Given the description of an element on the screen output the (x, y) to click on. 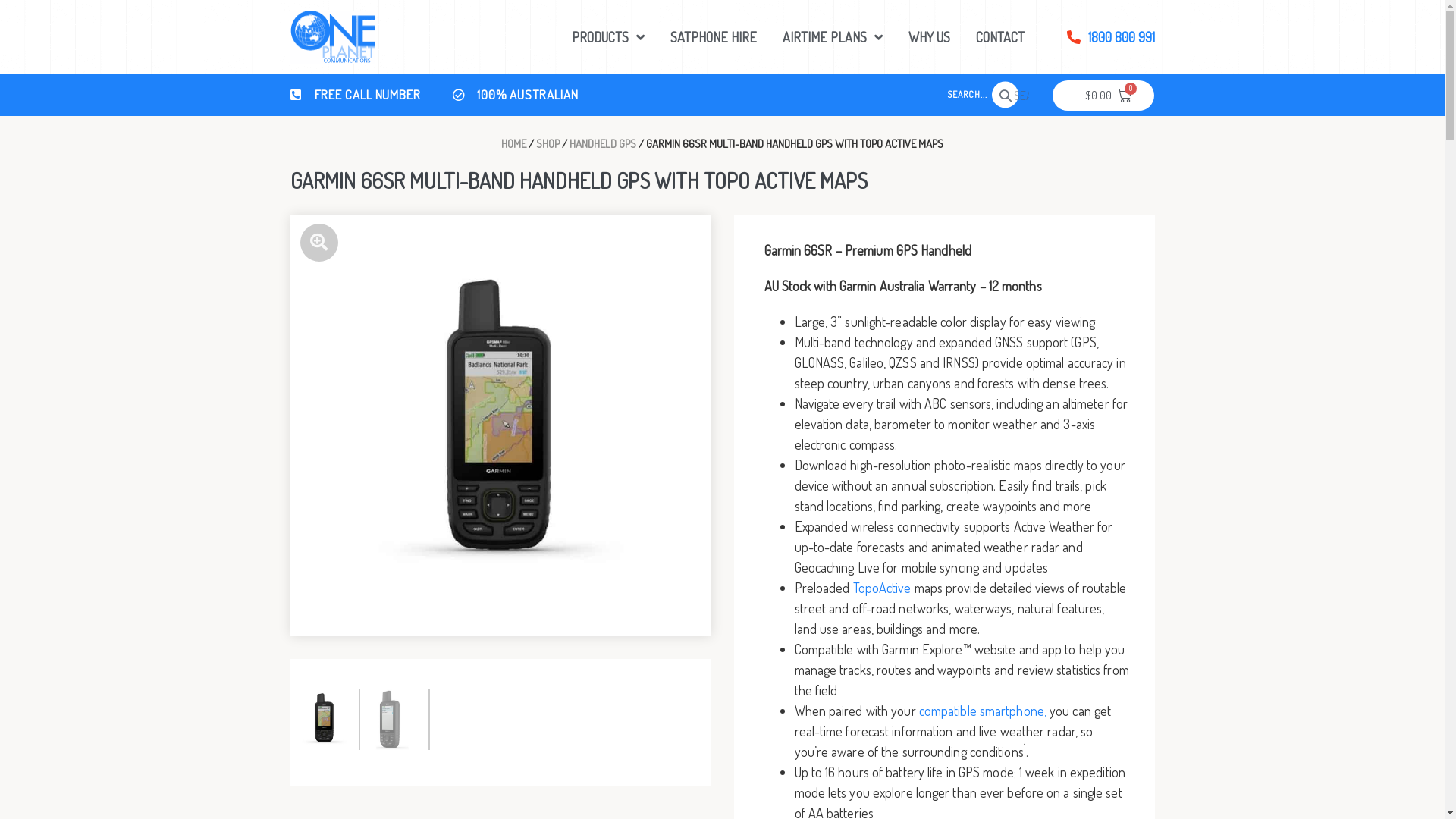
TopoActive Element type: text (881, 587)
WHY US Element type: text (929, 37)
PRODUCTS Element type: text (607, 37)
1800 800 991 Element type: text (1110, 37)
CONTACT Element type: text (1000, 37)
HANDHELD GPS Element type: text (602, 143)
SATPHONE HIRE Element type: text (713, 37)
SHOP Element type: text (547, 143)
FREE CALL NUMBER Element type: text (354, 95)
compatible smartphone, Element type: text (982, 710)
AIRTIME PLANS Element type: text (832, 37)
$0.00 Element type: text (1103, 95)
Garmin 66SR Handheld GPS Element type: hover (499, 425)
HOME Element type: text (513, 143)
